Given the description of an element on the screen output the (x, y) to click on. 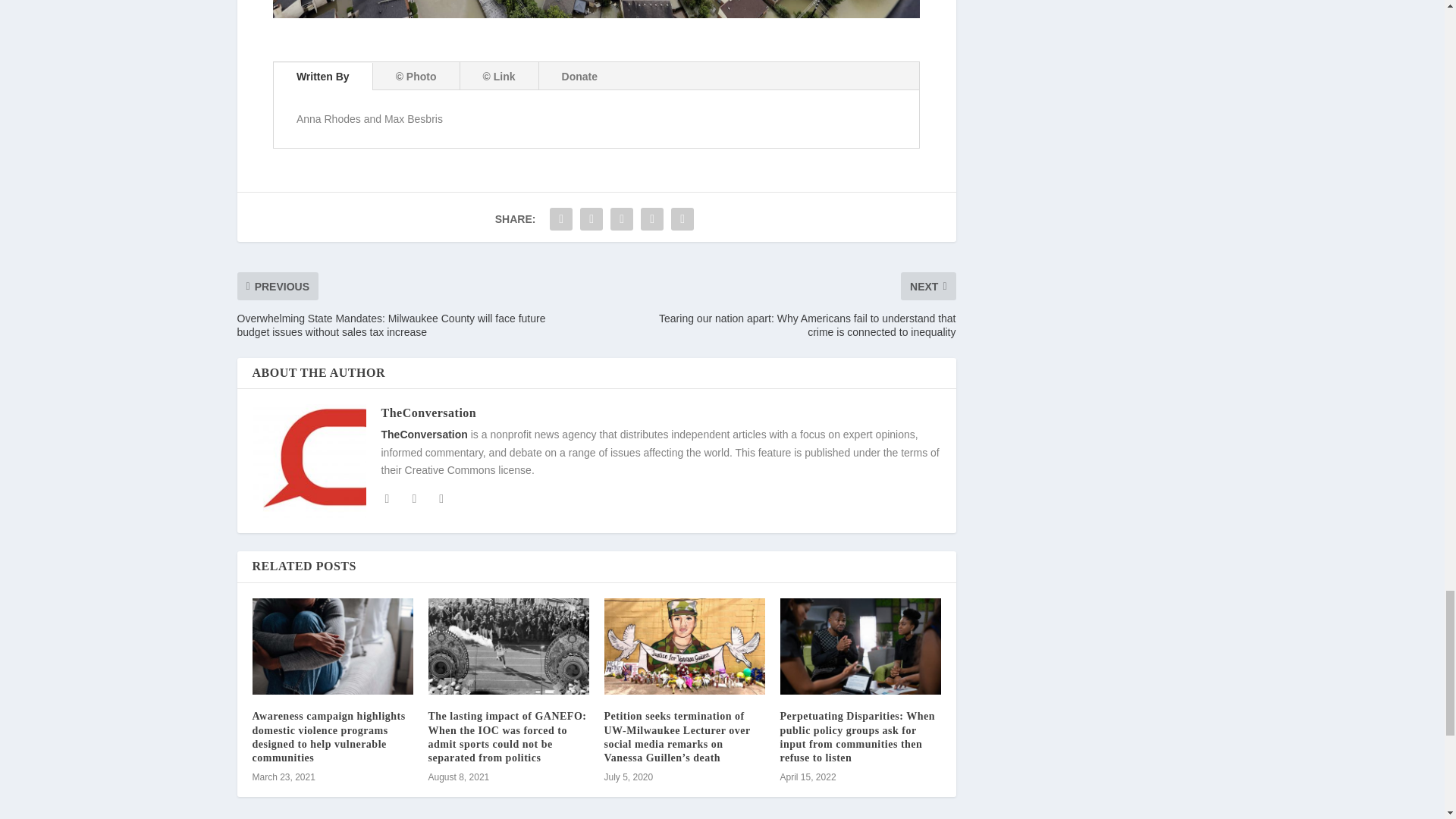
View all posts by TheConversation (428, 412)
